Given the description of an element on the screen output the (x, y) to click on. 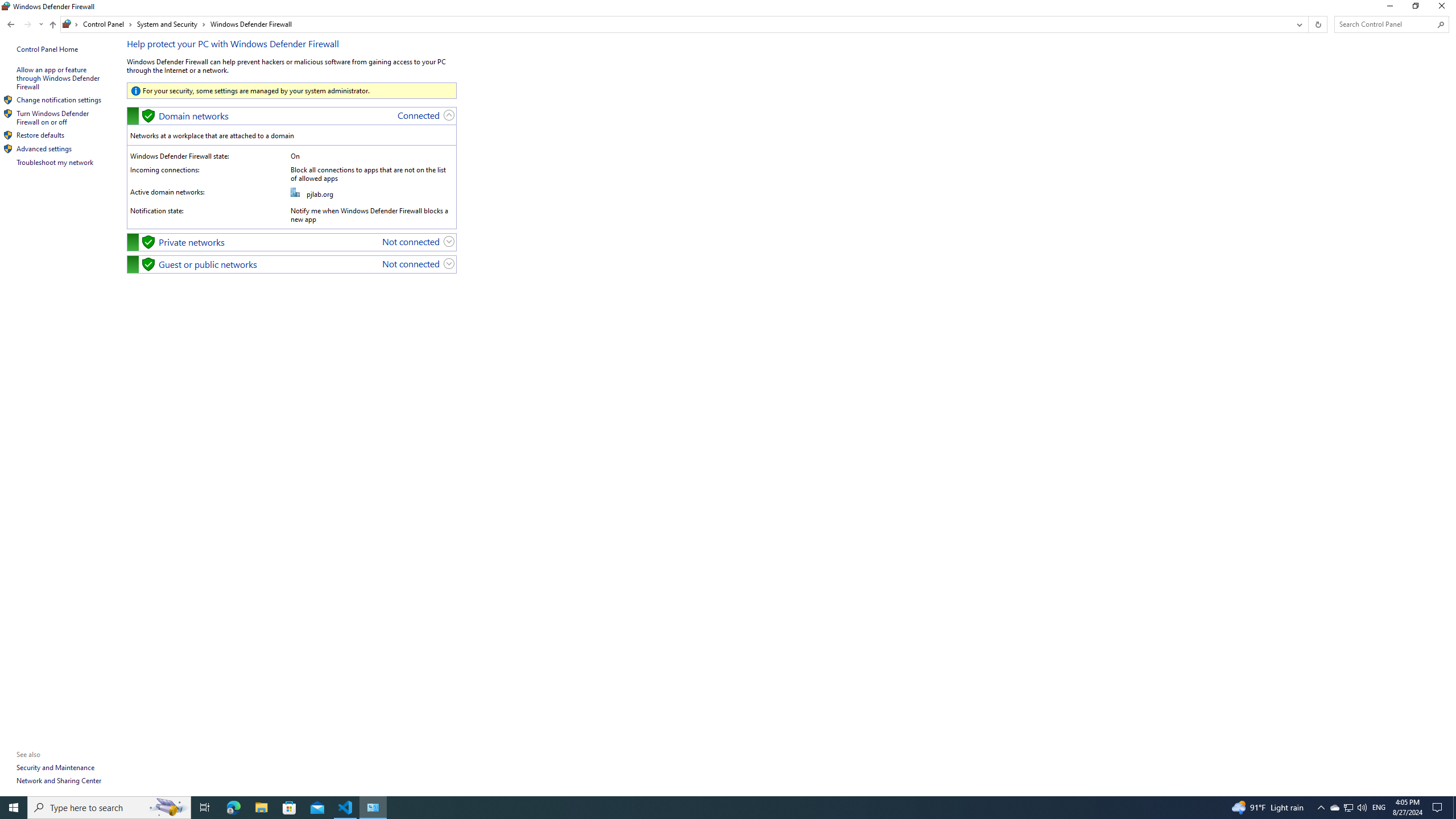
Visual Studio Code - 1 running window (345, 807)
Forward (Alt + Right Arrow) (27, 23)
Control Panel (107, 23)
Search Box (1386, 23)
Back to System and Security (Alt + Left Arrow) (10, 23)
Notification Chevron (1320, 807)
Windows Defender Firewall (251, 23)
File Explorer (261, 807)
Up band toolbar (52, 26)
Refresh "Windows Defender Firewall" (F5) (1316, 23)
Show desktop (1454, 807)
Not connected (411, 263)
Start (13, 807)
Recent locations (40, 23)
Search (1441, 24)
